Given the description of an element on the screen output the (x, y) to click on. 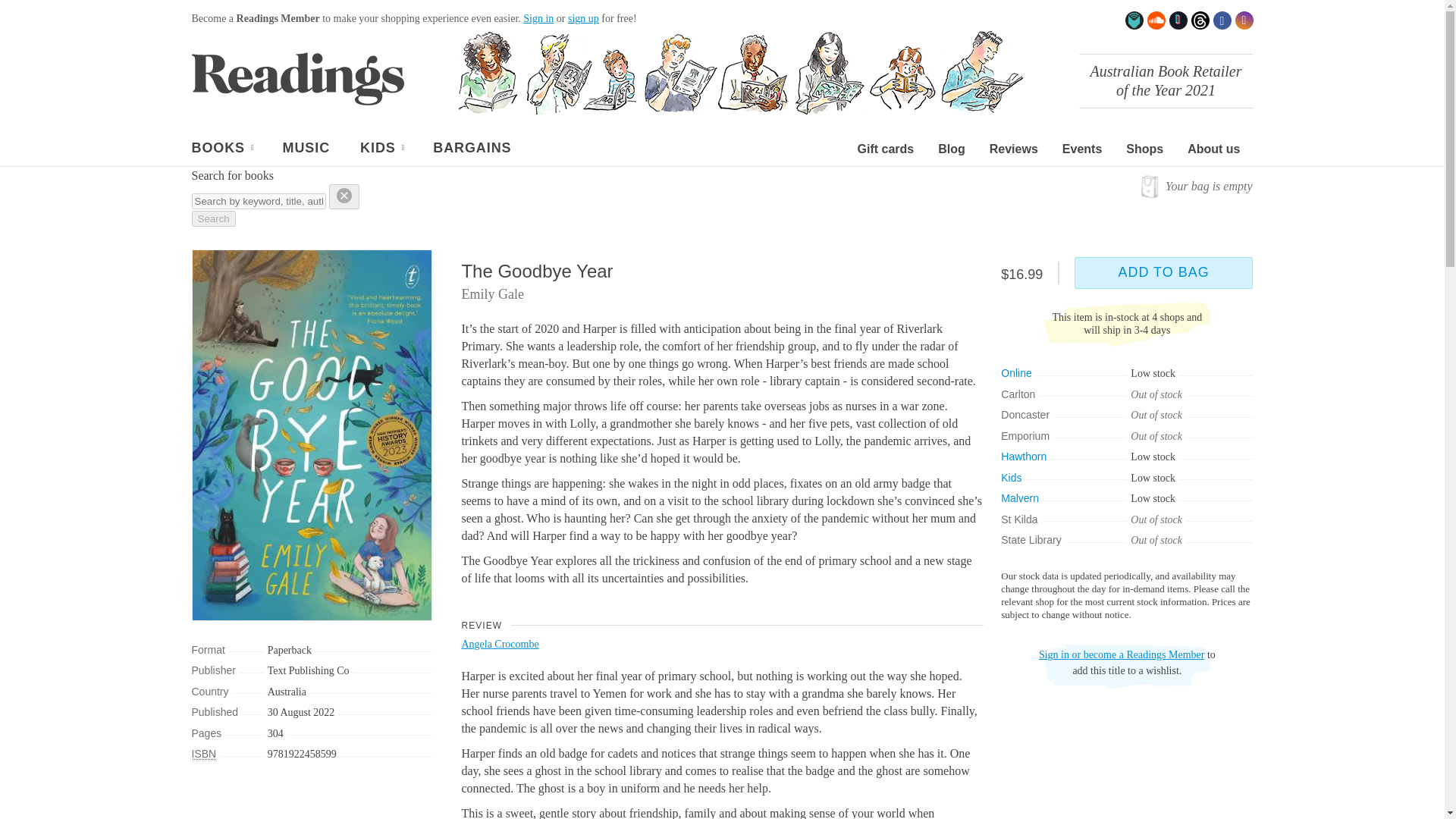
sign up (582, 18)
Sign in (537, 18)
MUSIC (306, 149)
BOOKS (221, 150)
KIDS (381, 150)
International Standard Book Number (202, 753)
Readings (297, 78)
